Given the description of an element on the screen output the (x, y) to click on. 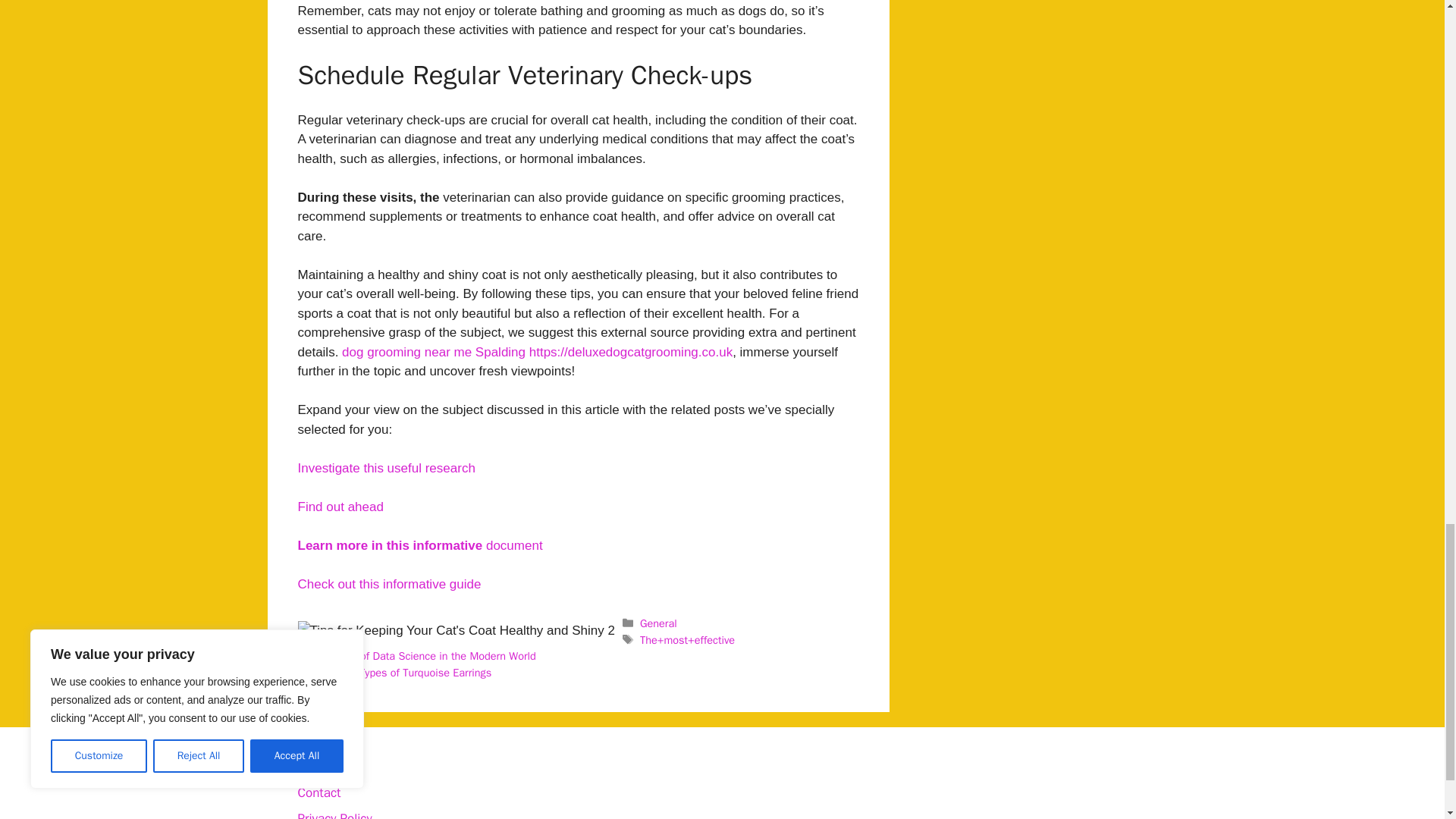
The Role of Data Science in the Modern World (425, 655)
Learn more in this informative document (419, 545)
Check out this informative guide (388, 584)
General (658, 622)
Investigate this useful research (385, 468)
Find out ahead (339, 506)
Different Types of Turquoise Earrings (403, 672)
